Given the description of an element on the screen output the (x, y) to click on. 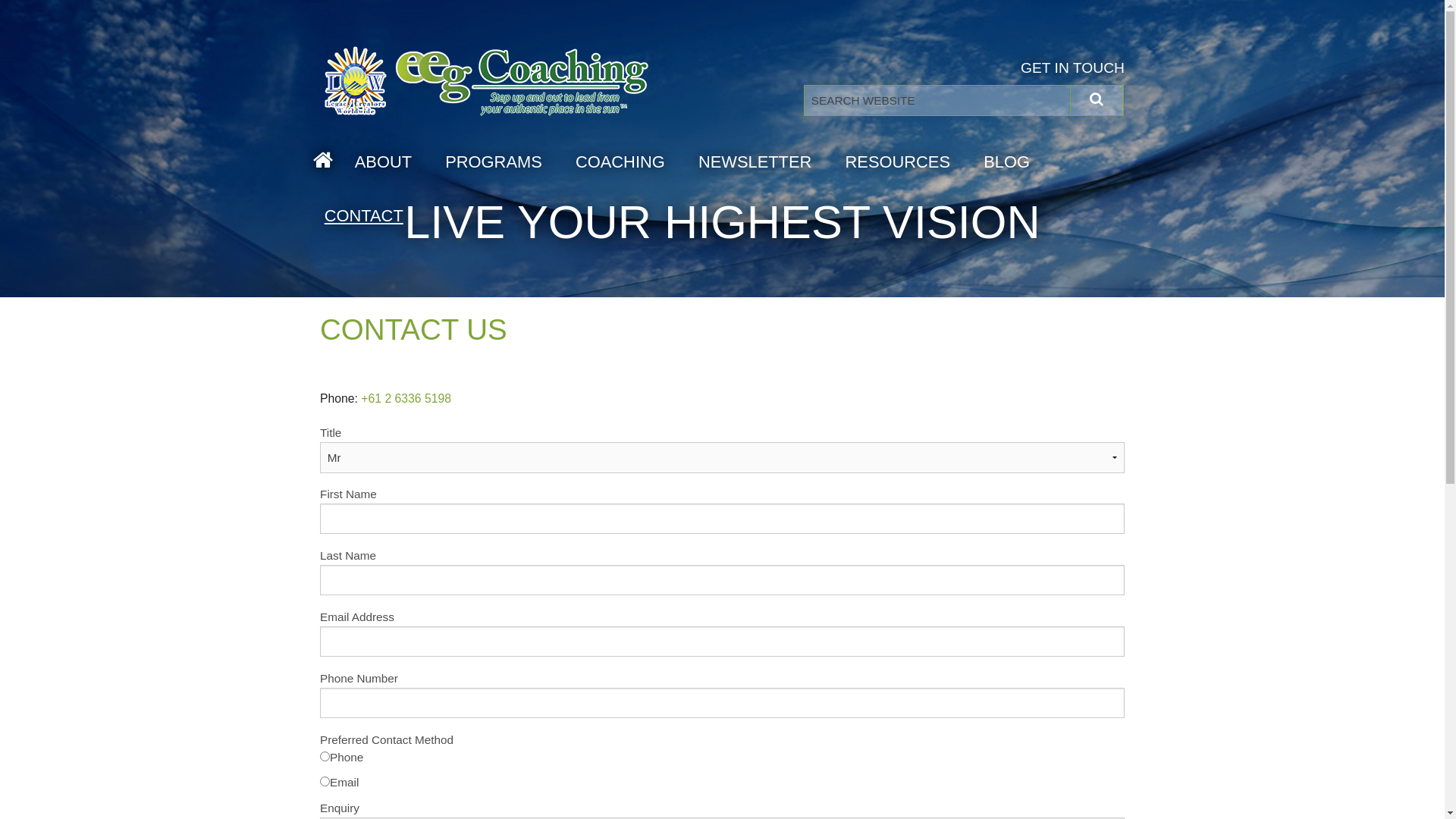
E.E.G. COACHING PTY LTD Element type: text (383, 198)
CAREER TRANSITION - SOCIAL ENTREPRENEUR Element type: text (619, 198)
ABOUT Element type: text (383, 161)
ELISABETH GORTSCHACHER Element type: text (383, 236)
TESTIMONIALS Element type: text (897, 310)
FAQ Element type: text (897, 236)
LIVE YOUR HIGHEST VISION Element type: text (619, 236)
FROM IDEA TO GLOBAL IMPACT Element type: text (619, 273)
YOUR SPIRITUAL TRADEMARK Element type: text (493, 236)
WORLD LEADERSHIP DAY Element type: text (383, 273)
NEWSLETTER Element type: text (754, 161)
PROGRAMS Element type: text (493, 161)
CONTACT Element type: text (355, 215)
BLOG Element type: text (1006, 161)
+61 2 6336 5198 Element type: text (405, 398)
COACHING Element type: text (619, 161)
RESOURCES Element type: text (897, 161)
NEWS Element type: text (897, 198)
GET IN TOUCH Element type: text (1072, 68)
MEDIA Element type: text (897, 273)
MENTOR COACHING FOR ICF CREDENTIALING Element type: text (619, 310)
